Given the description of an element on the screen output the (x, y) to click on. 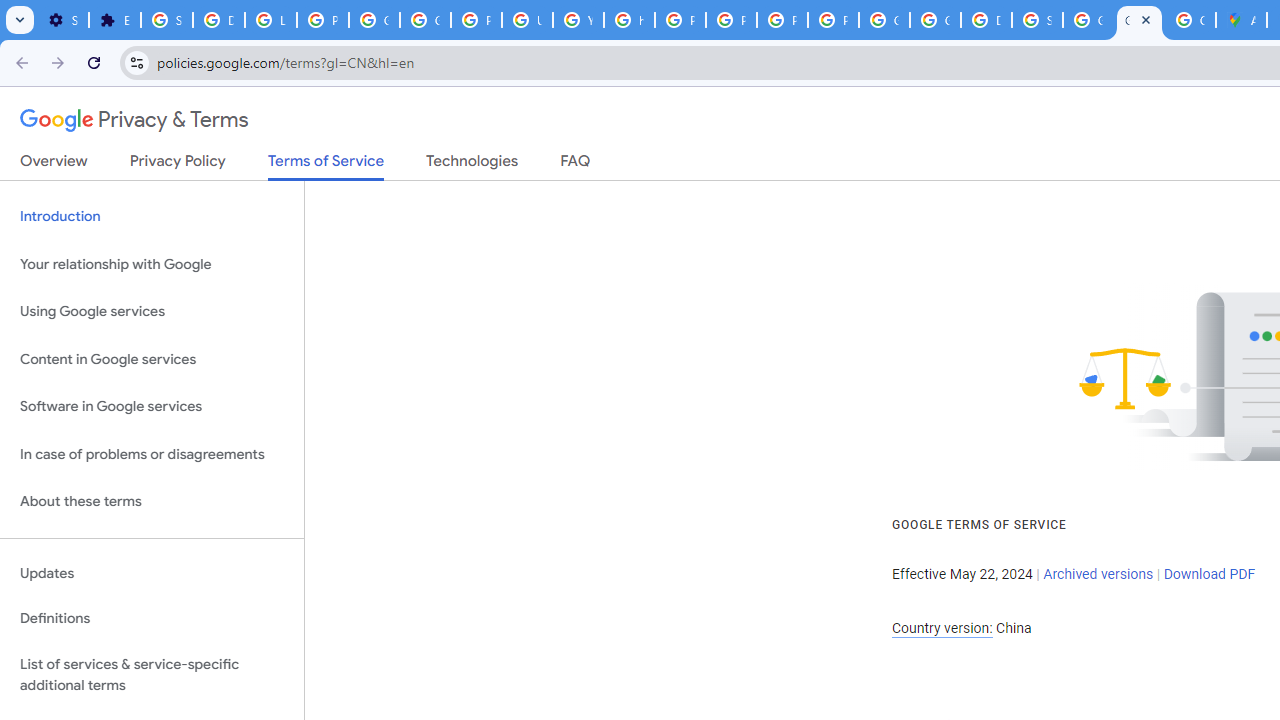
Settings - On startup (63, 20)
YouTube (578, 20)
